Given the description of an element on the screen output the (x, y) to click on. 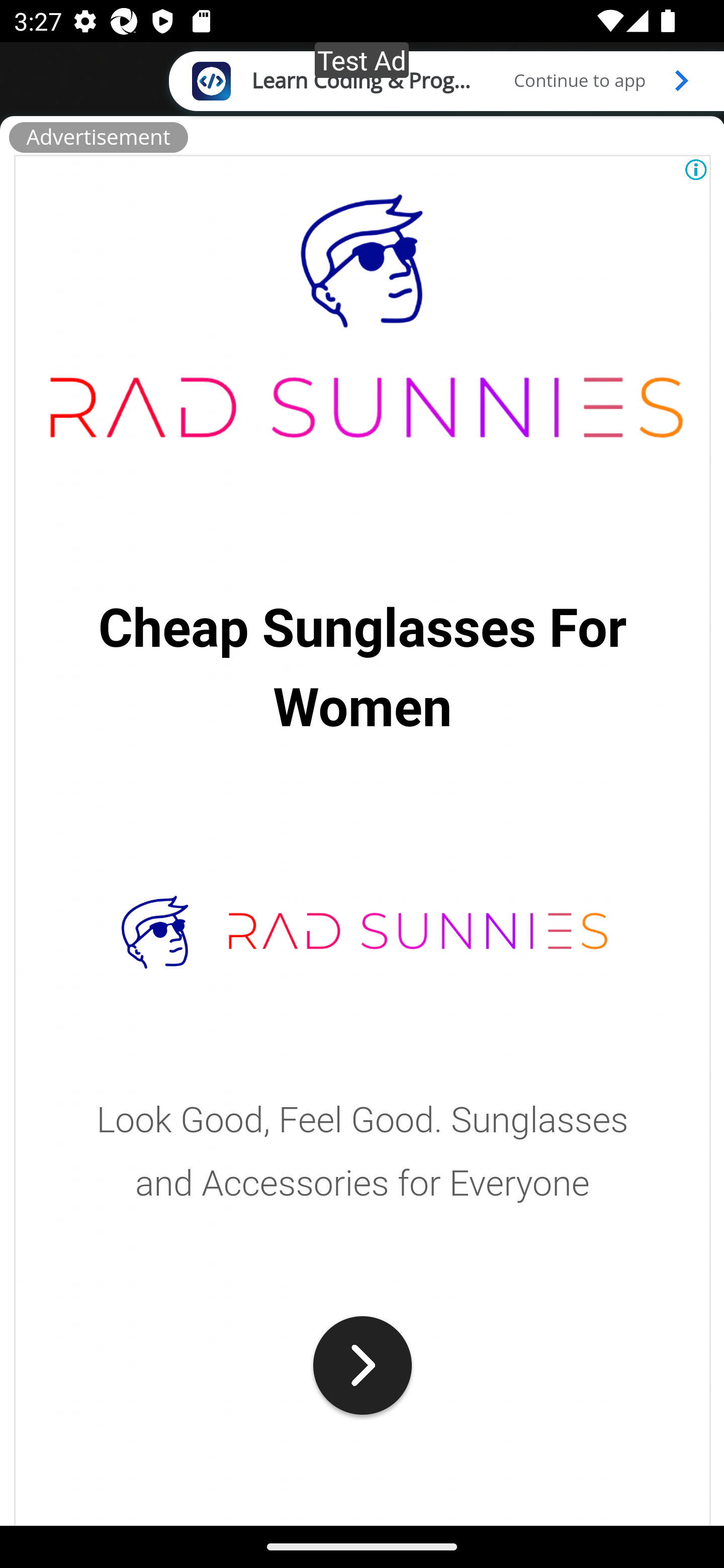
Learn Coding & Programming Continue to app (446, 80)
www.radsunnies (362, 337)
www.radsunnies (362, 931)
www.radsunnies (363, 1365)
